Given the description of an element on the screen output the (x, y) to click on. 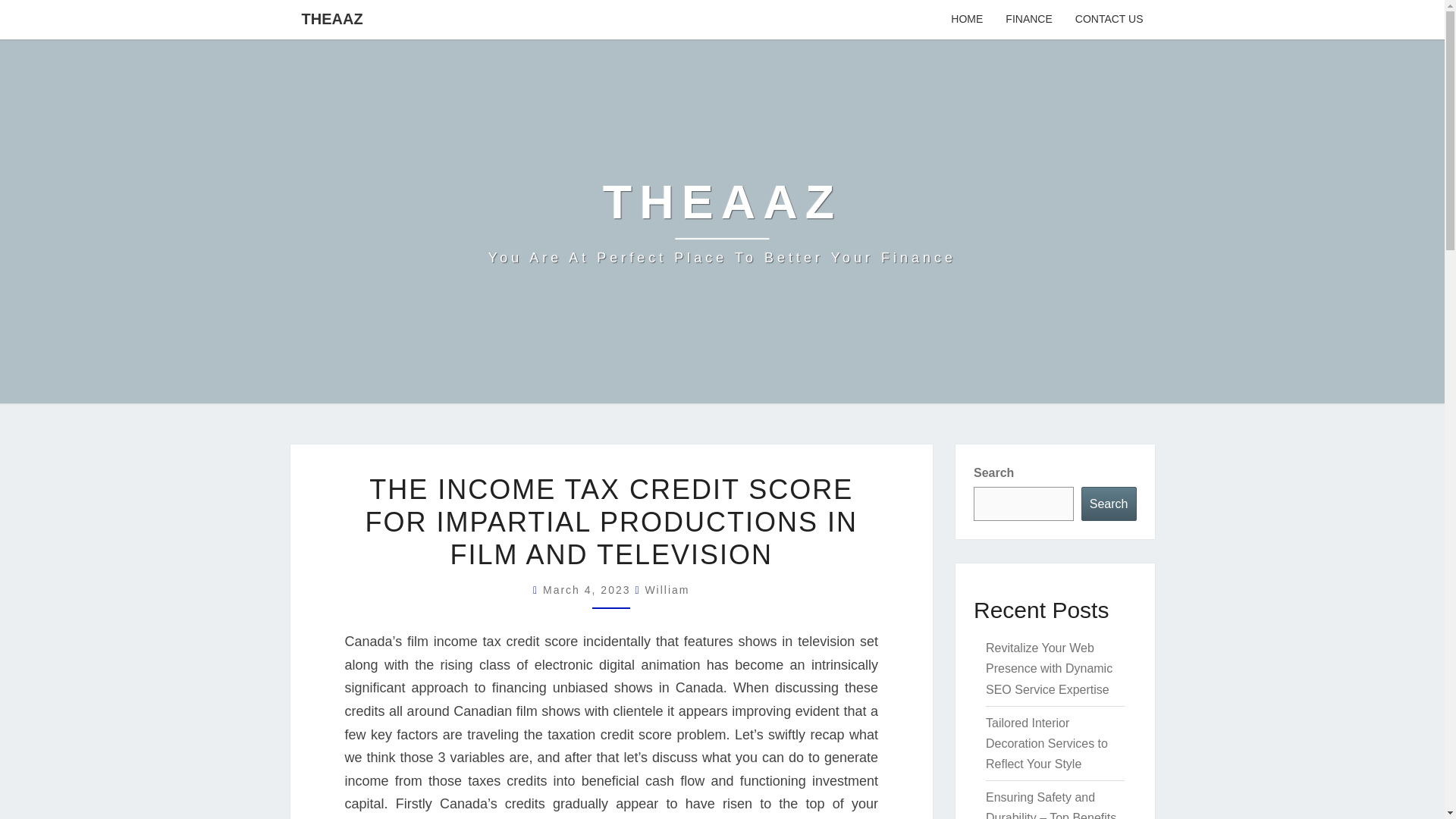
THEAAZ (331, 18)
March 4, 2023 (588, 589)
Tailored Interior Decoration Services to Reflect Your Style (1046, 743)
FINANCE (1028, 19)
CONTACT US (1109, 19)
William (666, 589)
Search (1109, 503)
View all posts by william (666, 589)
HOME (966, 19)
10:07 am (588, 589)
Theaaz (721, 221)
